Given the description of an element on the screen output the (x, y) to click on. 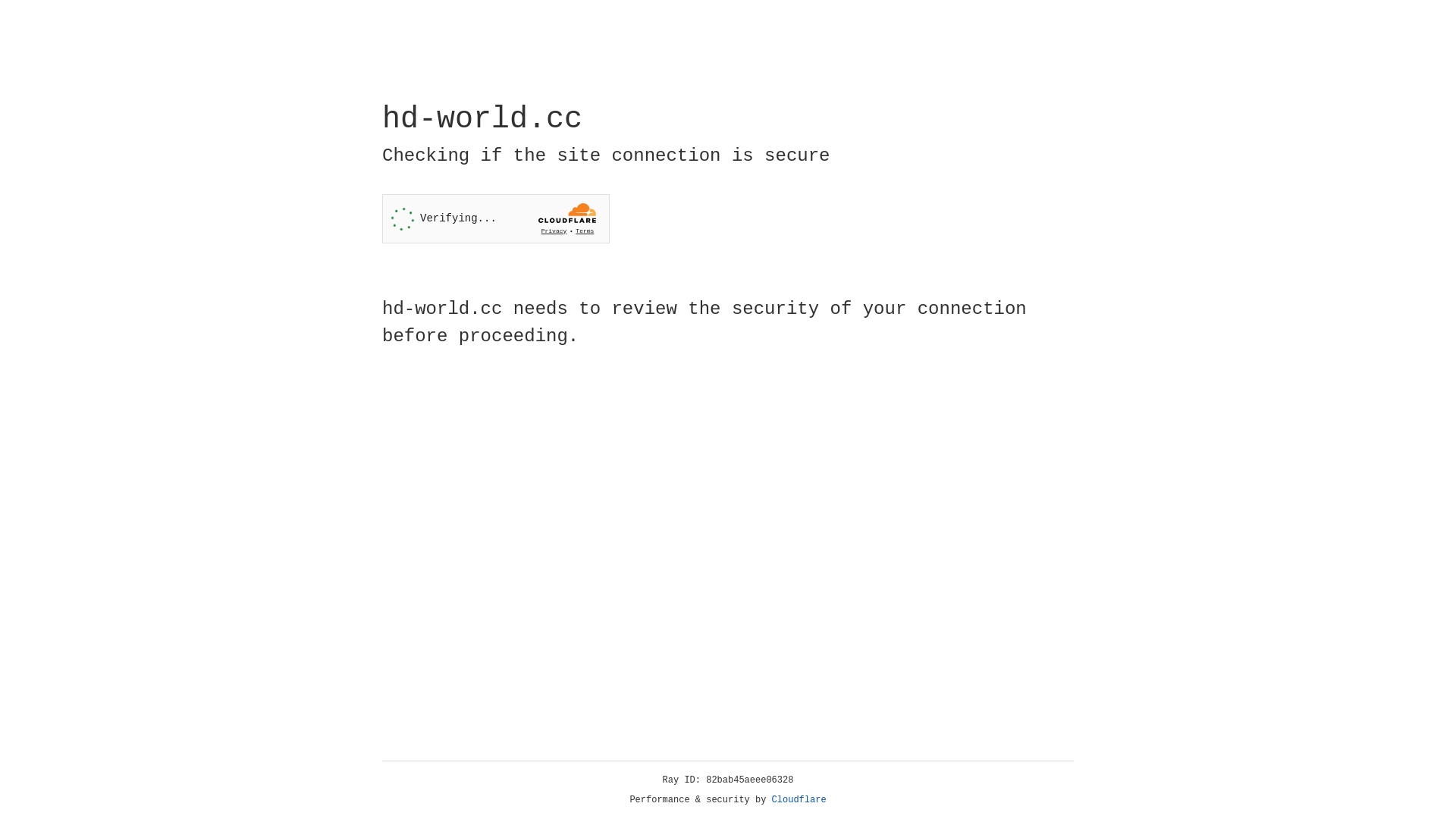
Widget containing a Cloudflare security challenge Element type: hover (495, 218)
Cloudflare Element type: text (798, 799)
